Given the description of an element on the screen output the (x, y) to click on. 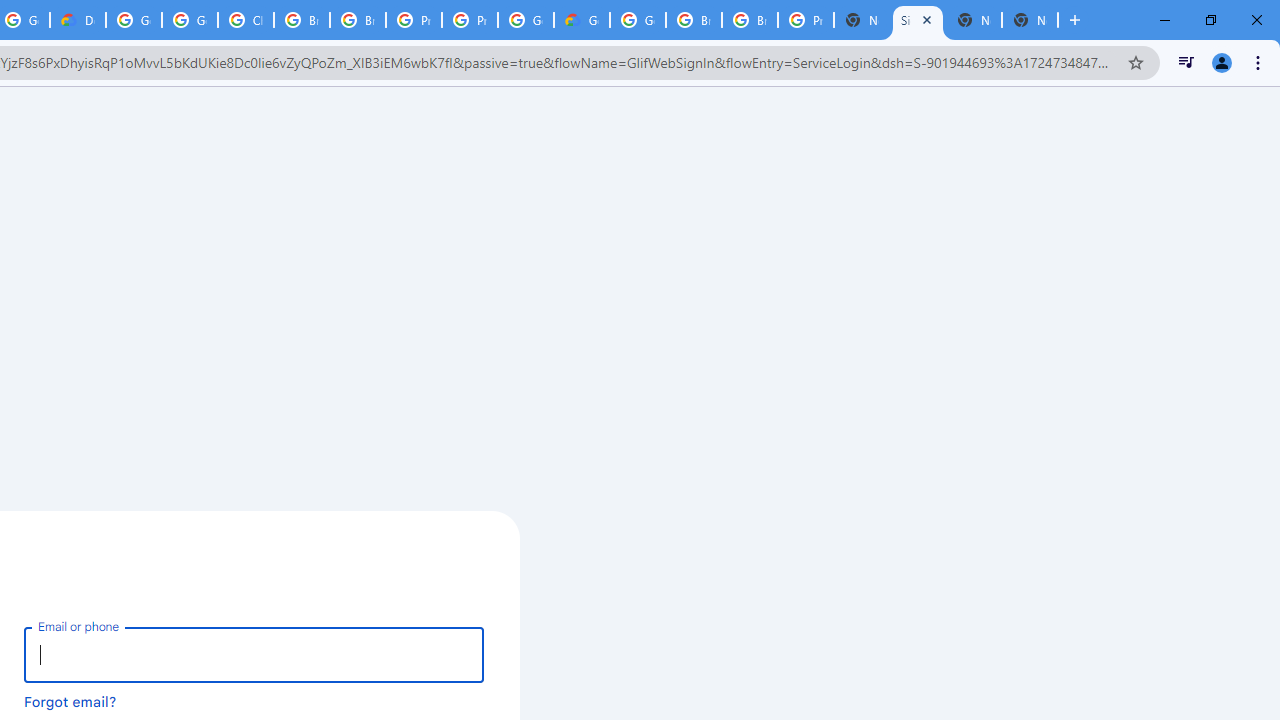
Sign in - Google Accounts (917, 20)
Browse Chrome as a guest - Computer - Google Chrome Help (301, 20)
Google Cloud Estimate Summary (582, 20)
Google Cloud Platform (134, 20)
Browse Chrome as a guest - Computer - Google Chrome Help (749, 20)
New Tab (1030, 20)
Email or phone (253, 654)
